Given the description of an element on the screen output the (x, y) to click on. 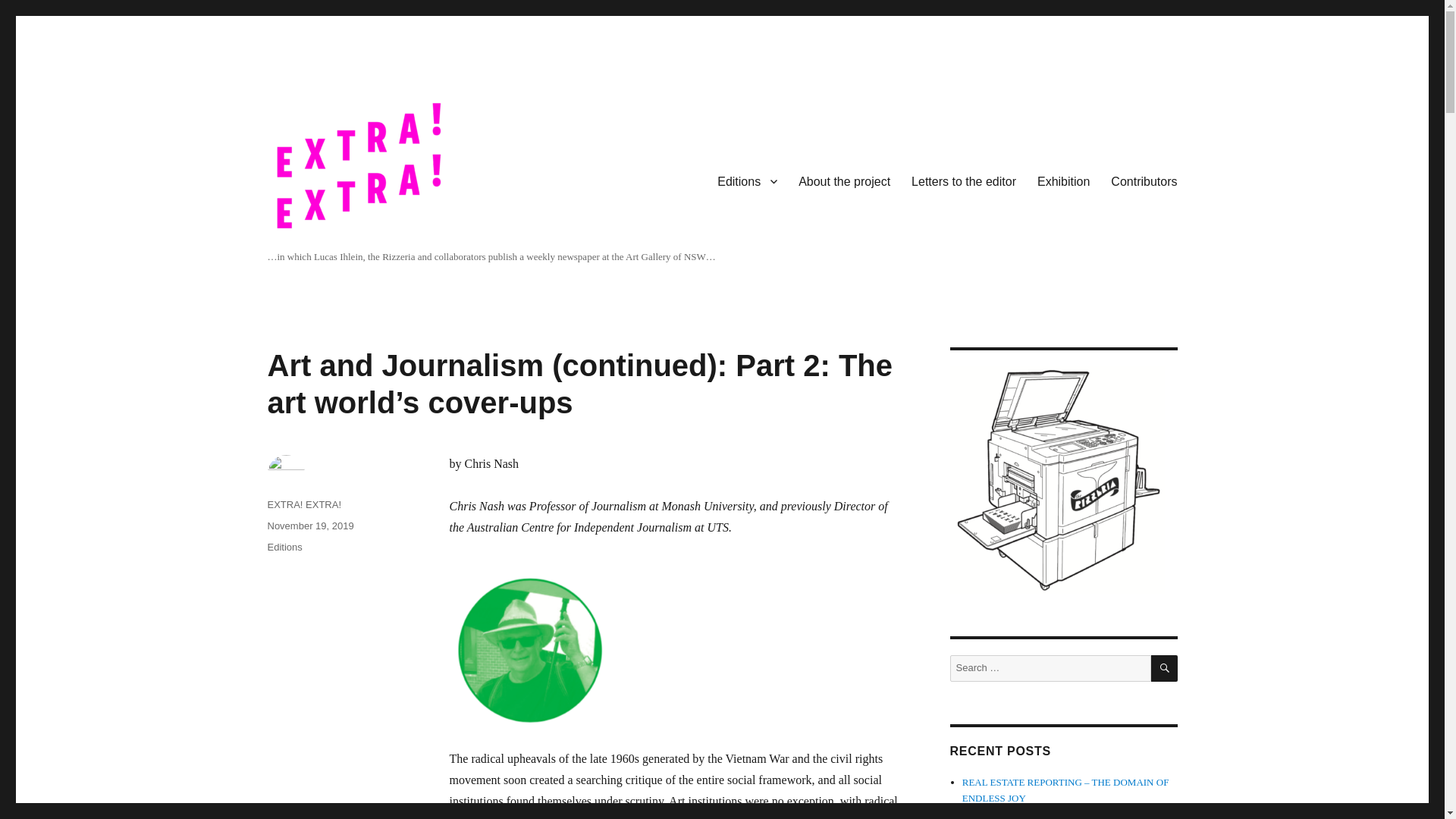
November 19, 2019 (309, 525)
Editions (746, 181)
Editions (283, 546)
Exhibition (1063, 181)
About the project (844, 181)
Contributors (1144, 181)
SEARCH (1164, 668)
Letters to the editor (963, 181)
Wondering where to draw the line (1029, 813)
EXTRA! EXTRA! (303, 504)
